Given the description of an element on the screen output the (x, y) to click on. 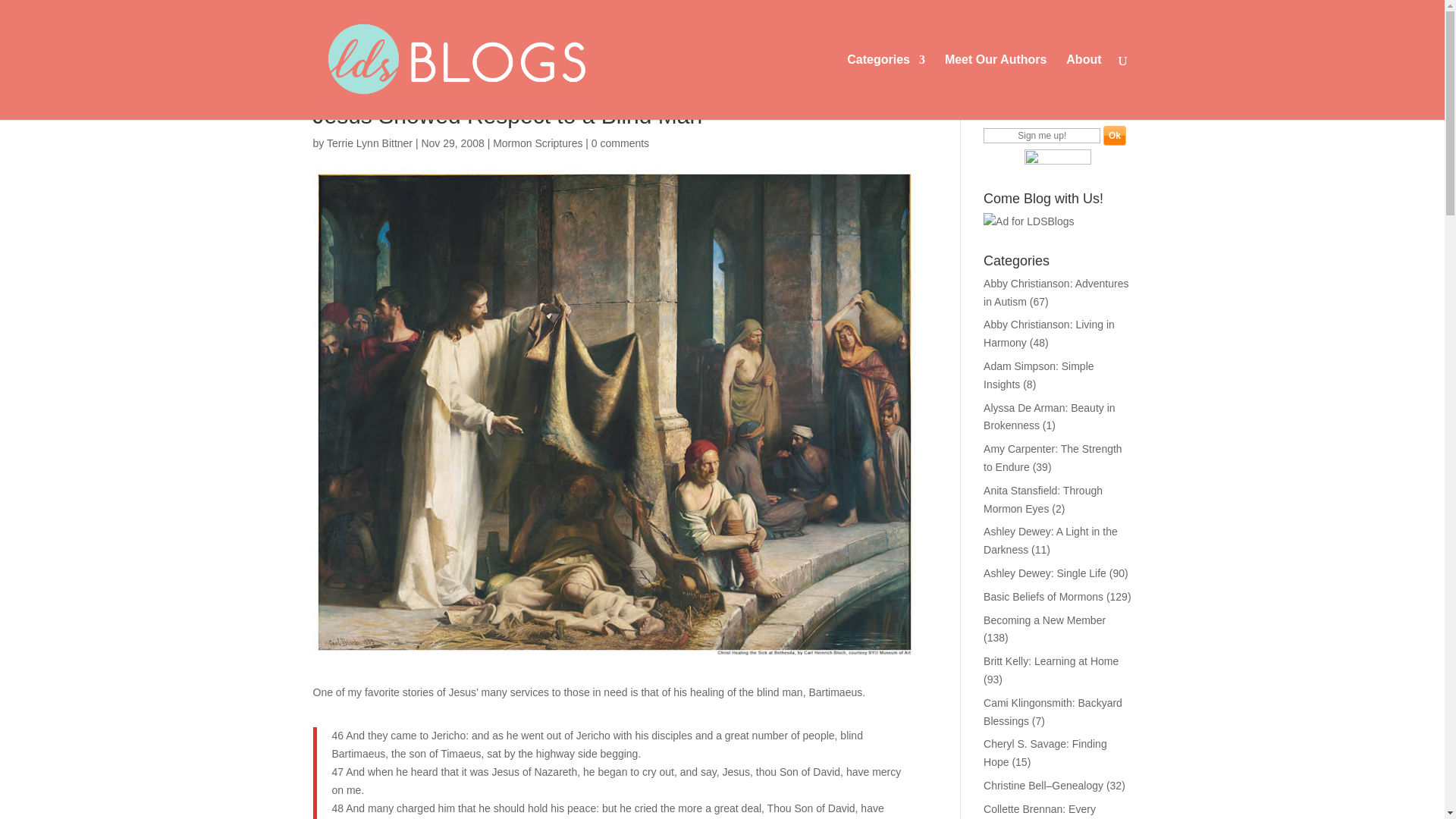
Meet Our Authors (995, 86)
Ok (1114, 135)
Terrie Lynn Bittner (369, 143)
Categories (885, 86)
Posts by Terrie Lynn Bittner (369, 143)
